Given the description of an element on the screen output the (x, y) to click on. 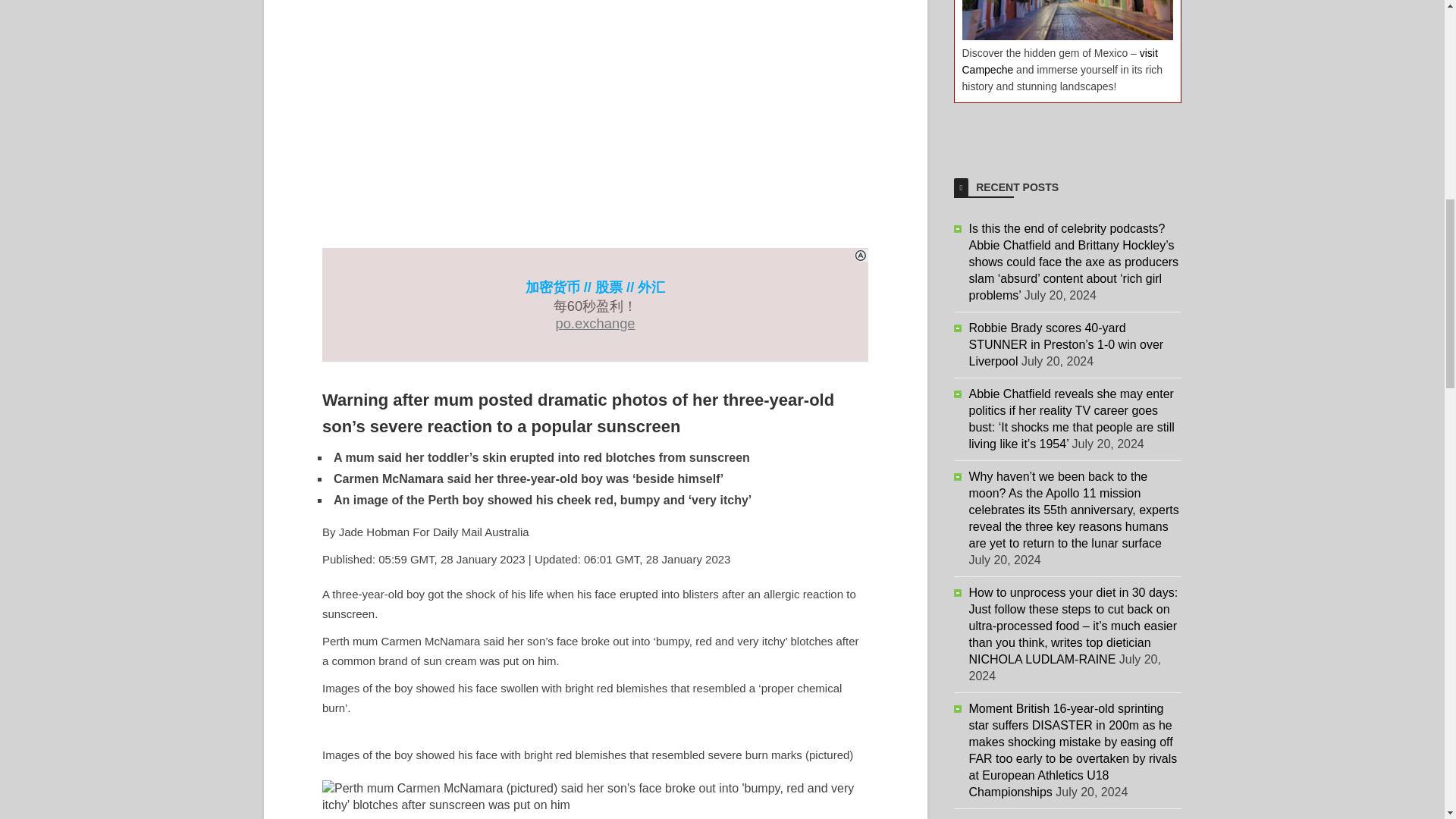
visit Campeche (1058, 61)
